Given the description of an element on the screen output the (x, y) to click on. 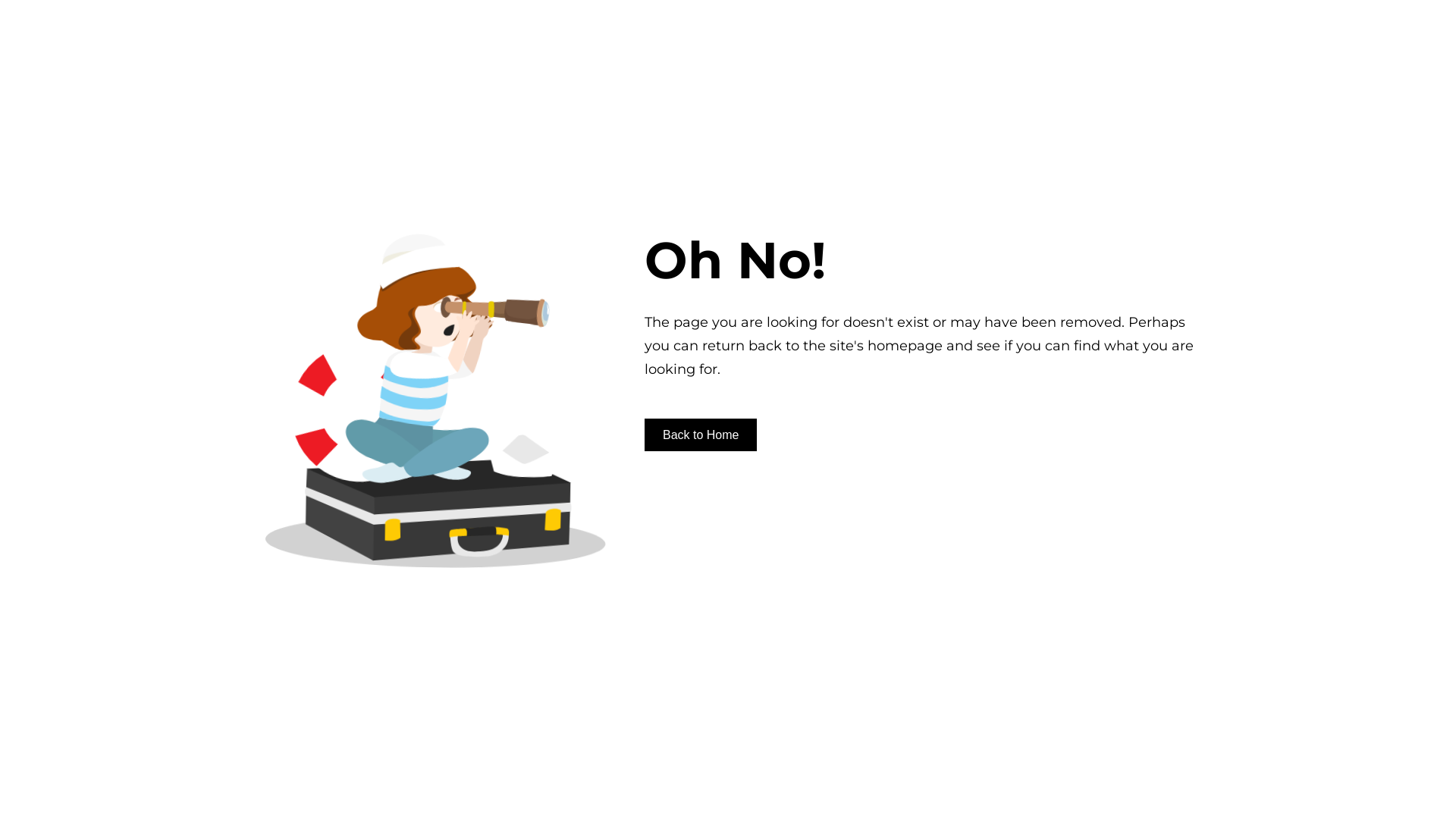
Back to Home Element type: text (700, 434)
